Given the description of an element on the screen output the (x, y) to click on. 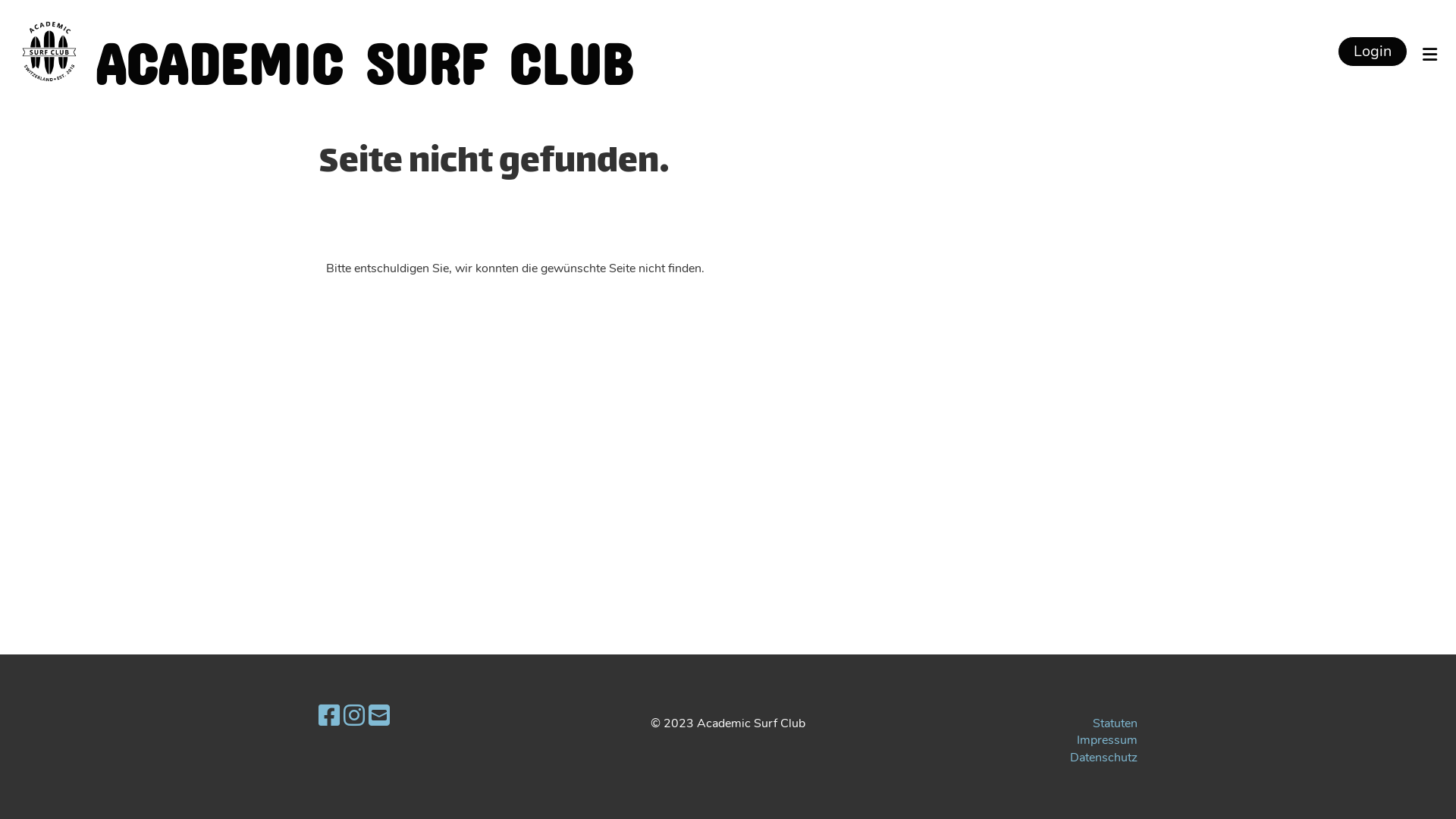
ACADEMIC SURF CLUB Element type: text (363, 51)
Login Element type: text (1372, 51)
Impressum Element type: text (1106, 739)
Statuten Element type: text (1114, 723)
Datenschutz Element type: text (1103, 757)
